Given the description of an element on the screen output the (x, y) to click on. 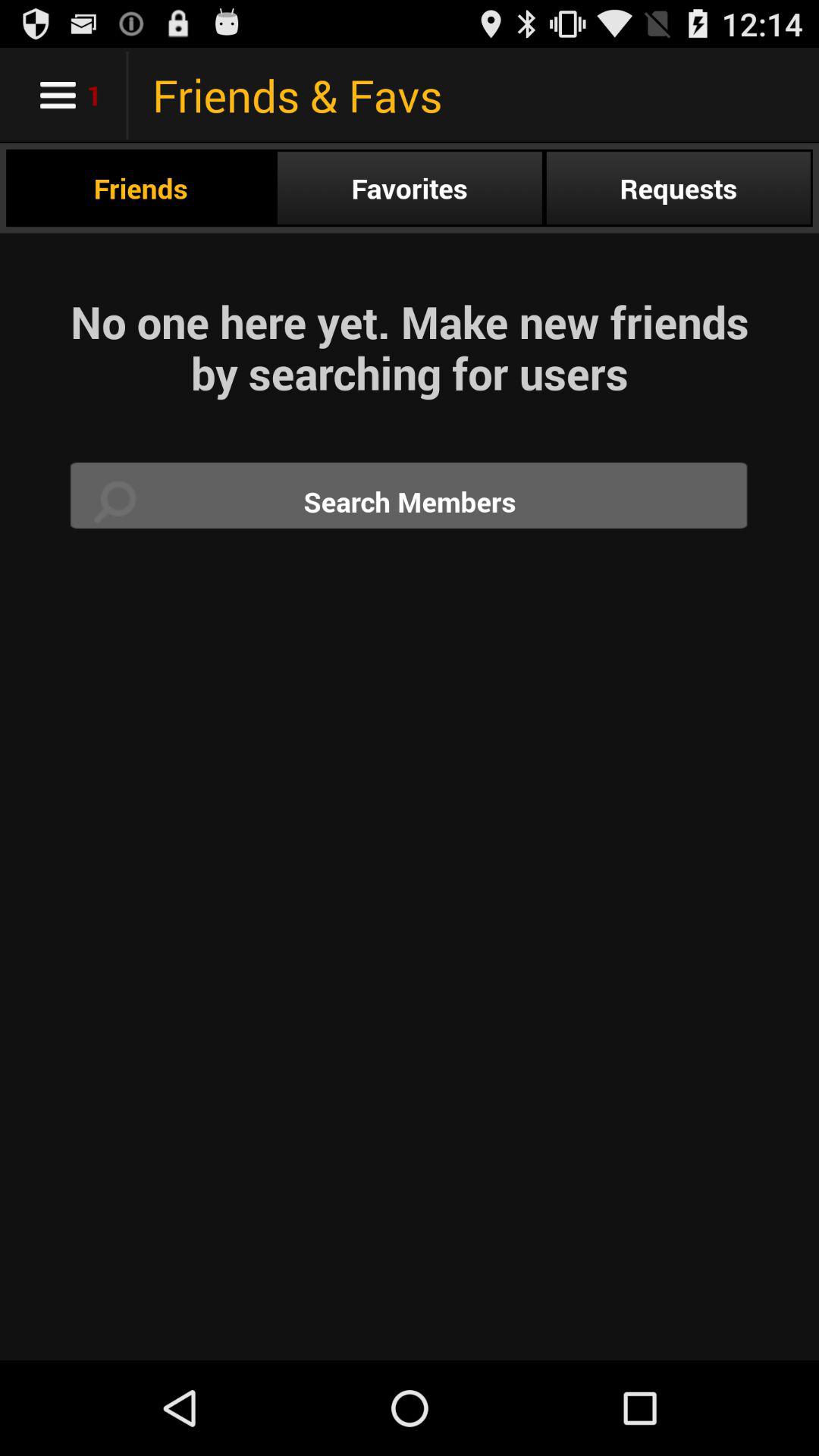
tap item next to the favorites icon (678, 187)
